Given the description of an element on the screen output the (x, y) to click on. 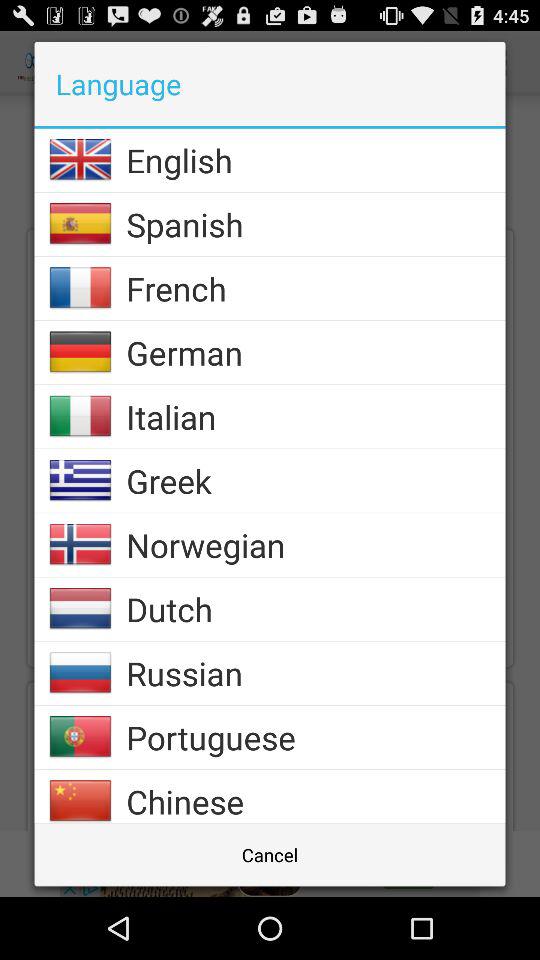
turn on icon below the italian item (315, 480)
